Given the description of an element on the screen output the (x, y) to click on. 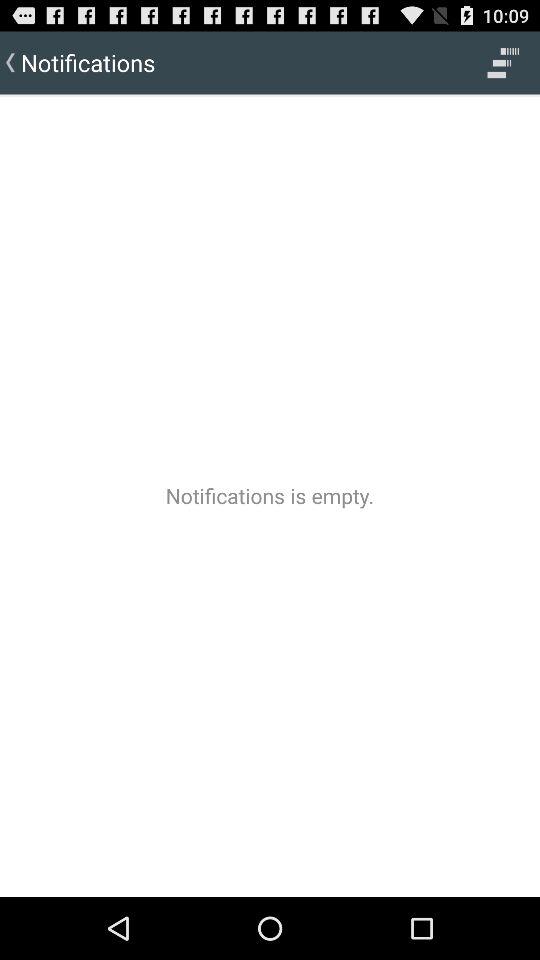
choose the icon at the top right corner (503, 62)
